Given the description of an element on the screen output the (x, y) to click on. 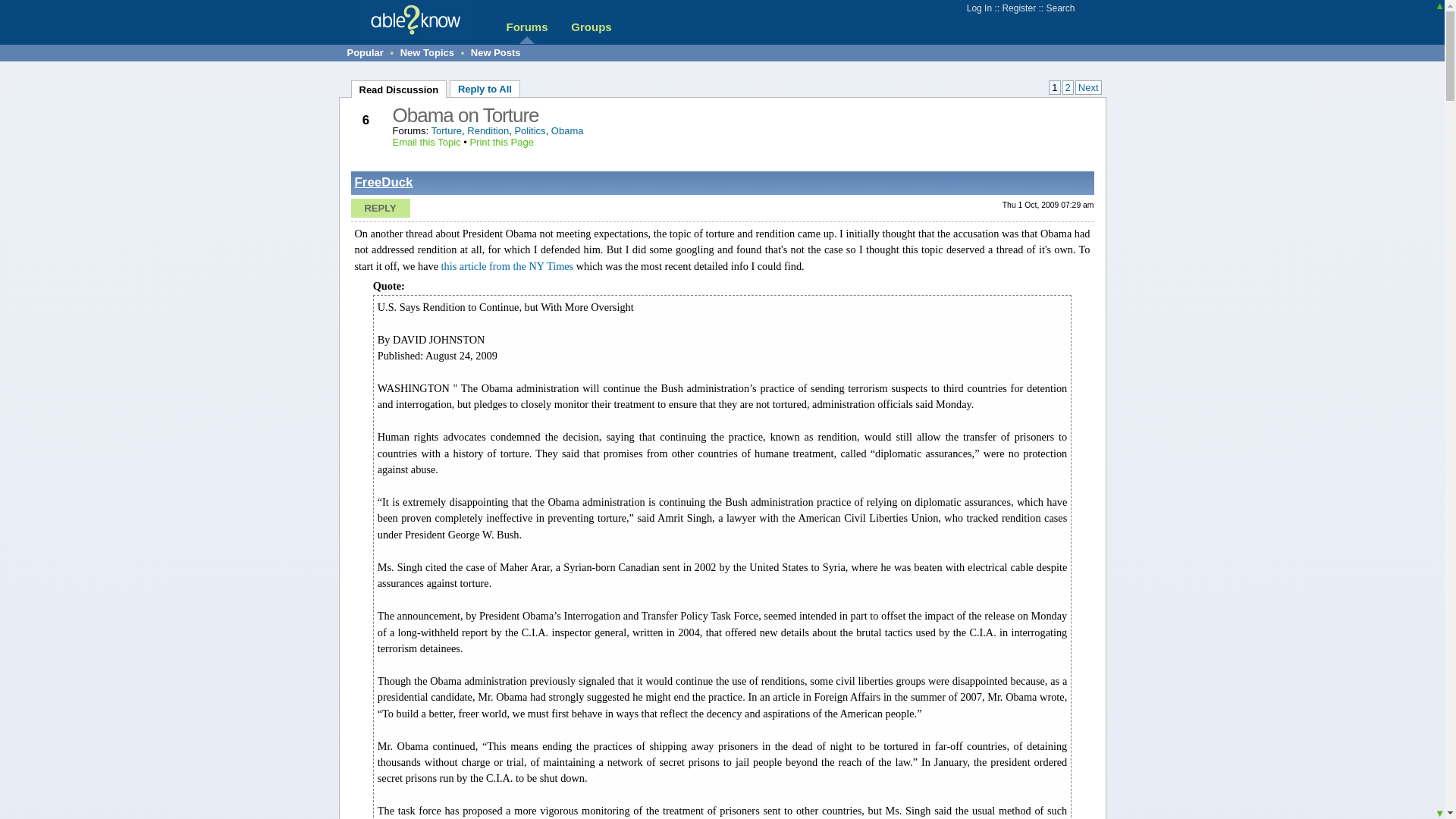
Torture Forum (445, 130)
Reply to All (484, 88)
Log In (978, 8)
New Posts (495, 52)
Search (1059, 8)
Reply to All (484, 88)
Print this Page (501, 142)
View Profile (384, 182)
Log In (978, 8)
Politics Forum (528, 130)
